Given the description of an element on the screen output the (x, y) to click on. 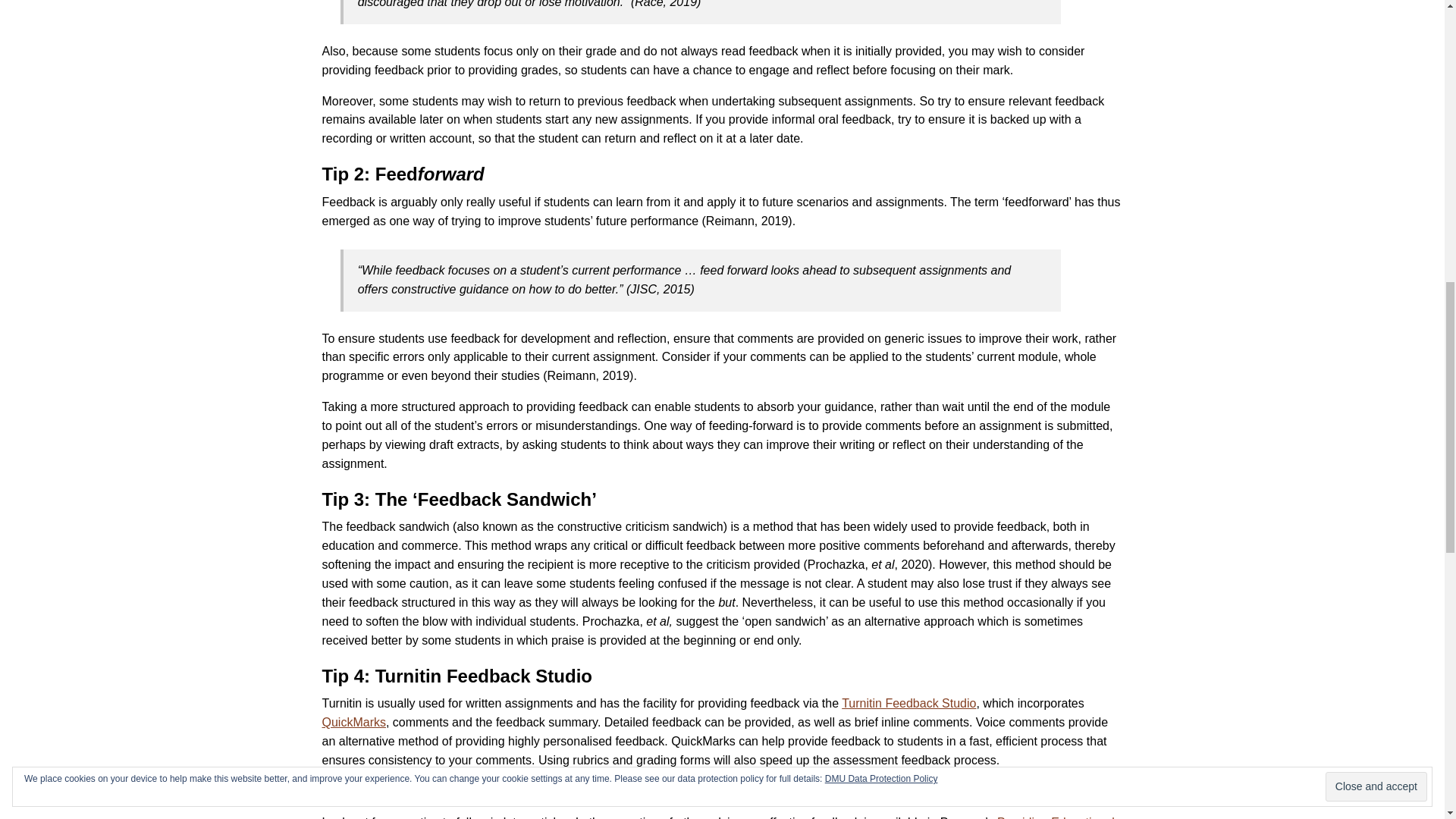
QuickMarks (353, 721)
Turnitin Feedback Studio (908, 703)
